Given the description of an element on the screen output the (x, y) to click on. 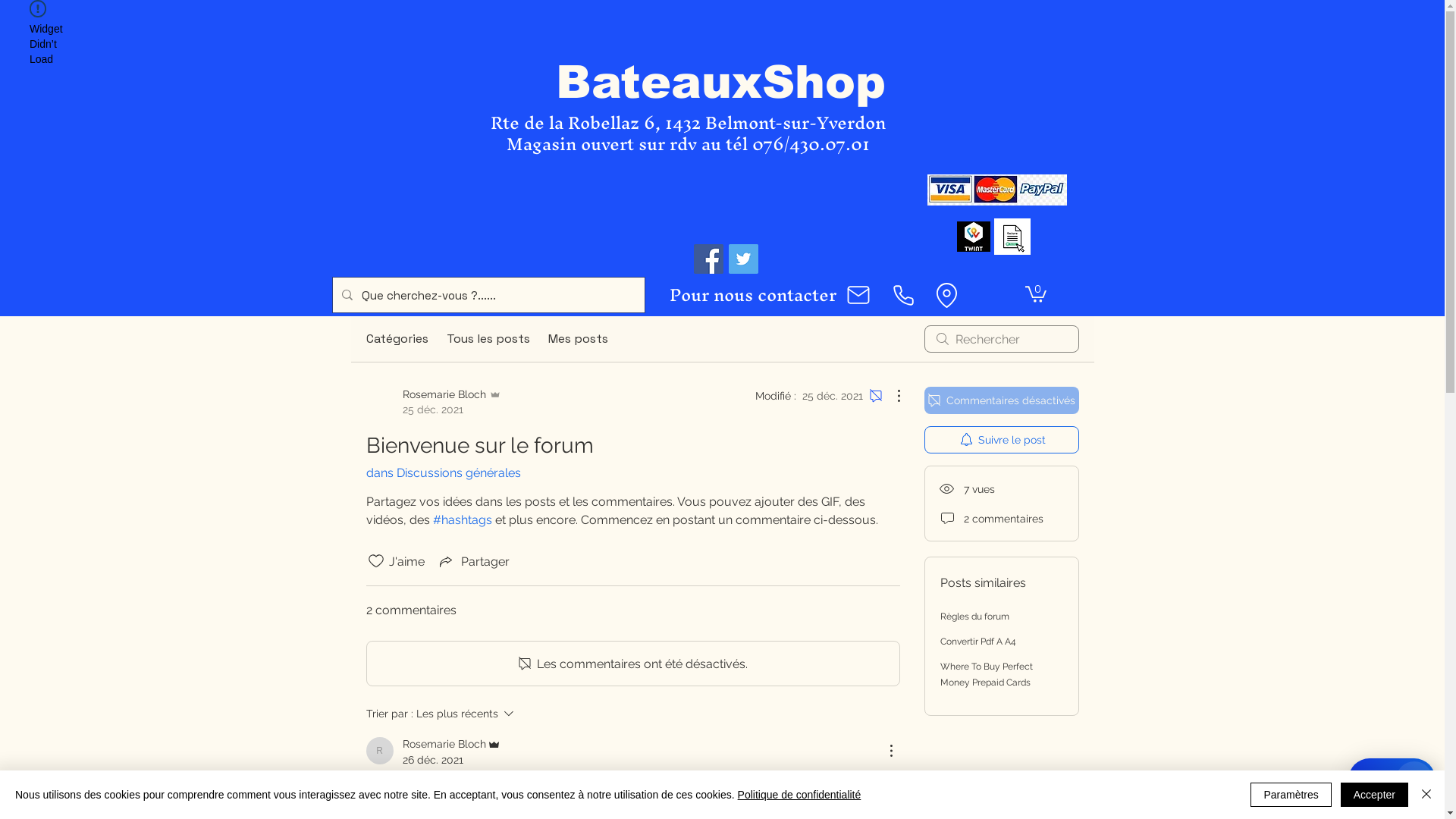
Accepter Element type: text (1374, 794)
Partager Element type: text (472, 561)
Tous les posts Element type: text (487, 338)
Mes posts Element type: text (577, 338)
R Element type: text (378, 750)
Convertir Pdf A A4 Element type: text (978, 641)
#hashtags Element type: text (461, 519)
0 Element type: text (1035, 293)
Smartsupp widget button Element type: hover (1391, 779)
Suivre le post Element type: text (1000, 439)
Rosemarie Bloch Element type: text (452, 743)
Where To Buy Perfect Money Prepaid Cards Element type: text (986, 674)
